Given the description of an element on the screen output the (x, y) to click on. 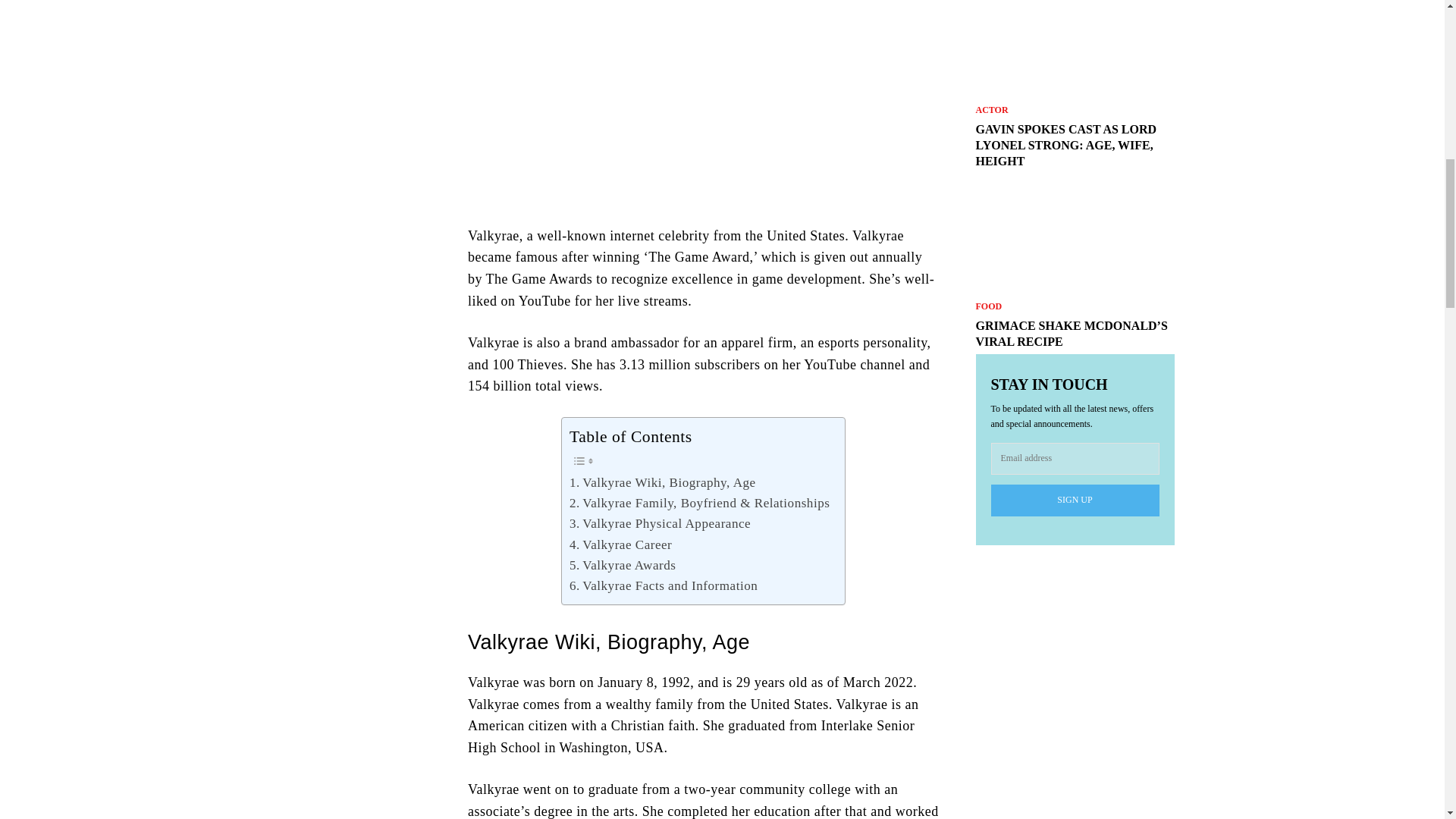
Valkyrae Awards (622, 565)
Valkyrae Career (620, 544)
Valkyrae Facts and Information (663, 585)
Valkyrae Physical Appearance (660, 523)
Valkyrae Wiki, Biography, Age (662, 482)
